Given the description of an element on the screen output the (x, y) to click on. 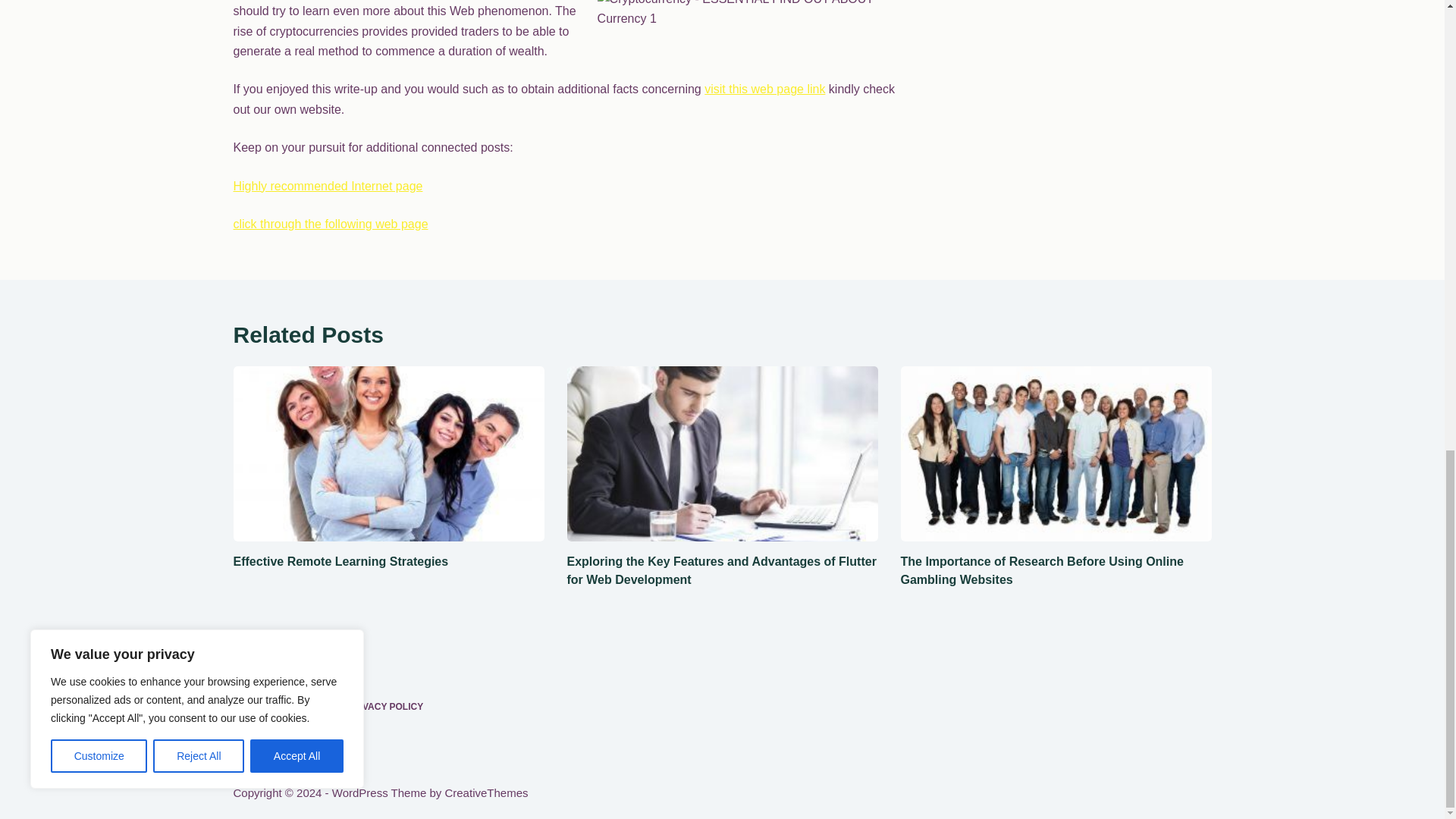
Highly recommended Internet page (327, 185)
click through the following web page (330, 223)
visit this web page link (764, 88)
